Given the description of an element on the screen output the (x, y) to click on. 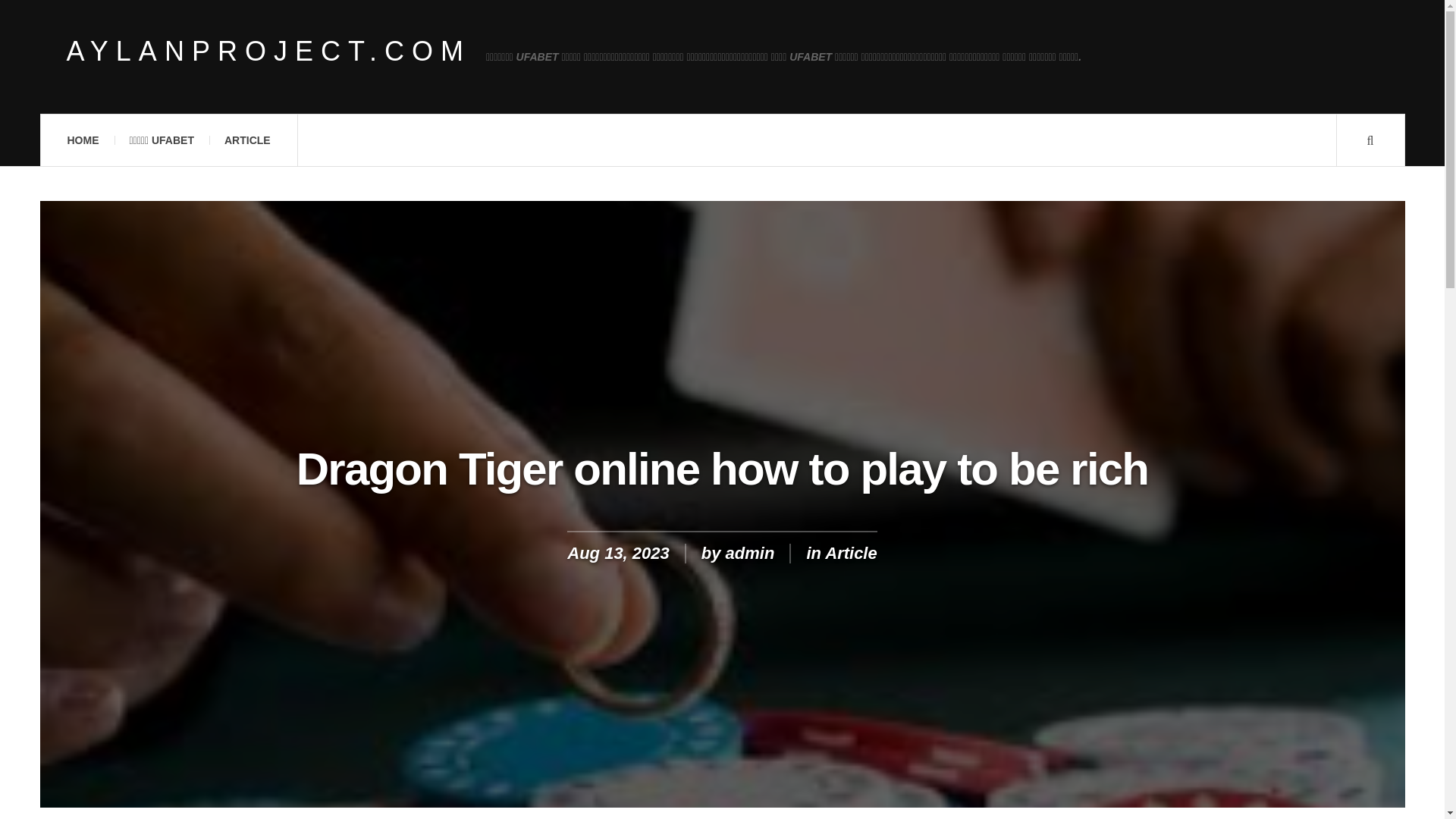
HOME (81, 140)
AYLANPROJECT.COM (268, 51)
ARTICLE (247, 140)
View all posts in Article (850, 552)
Article (850, 552)
aylanproject.com (268, 51)
admin (749, 552)
